Given the description of an element on the screen output the (x, y) to click on. 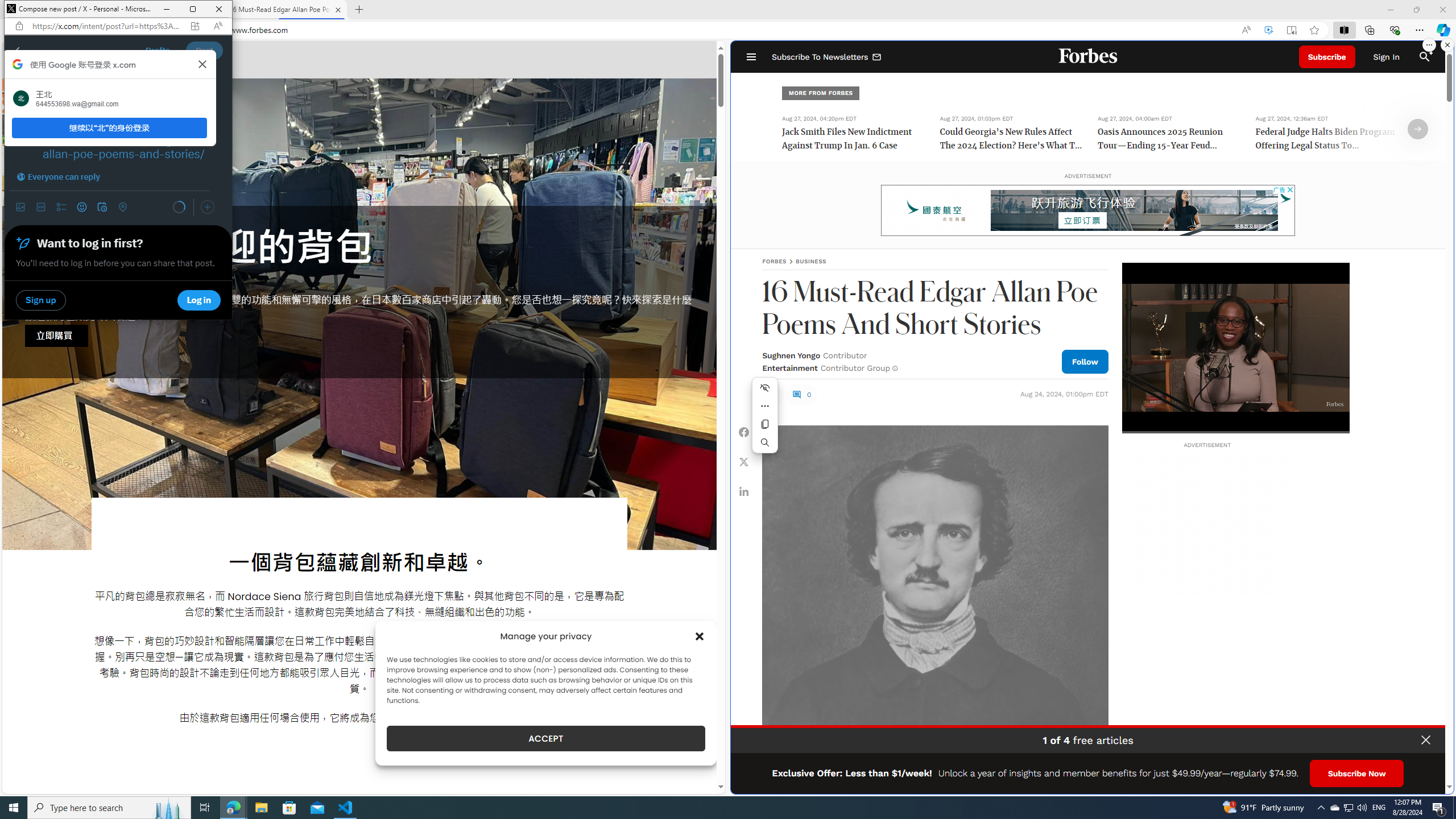
Class: cmplz-close (699, 636)
Privacy (1416, 781)
Arrow Right (1417, 129)
More options. (1428, 45)
